Given the description of an element on the screen output the (x, y) to click on. 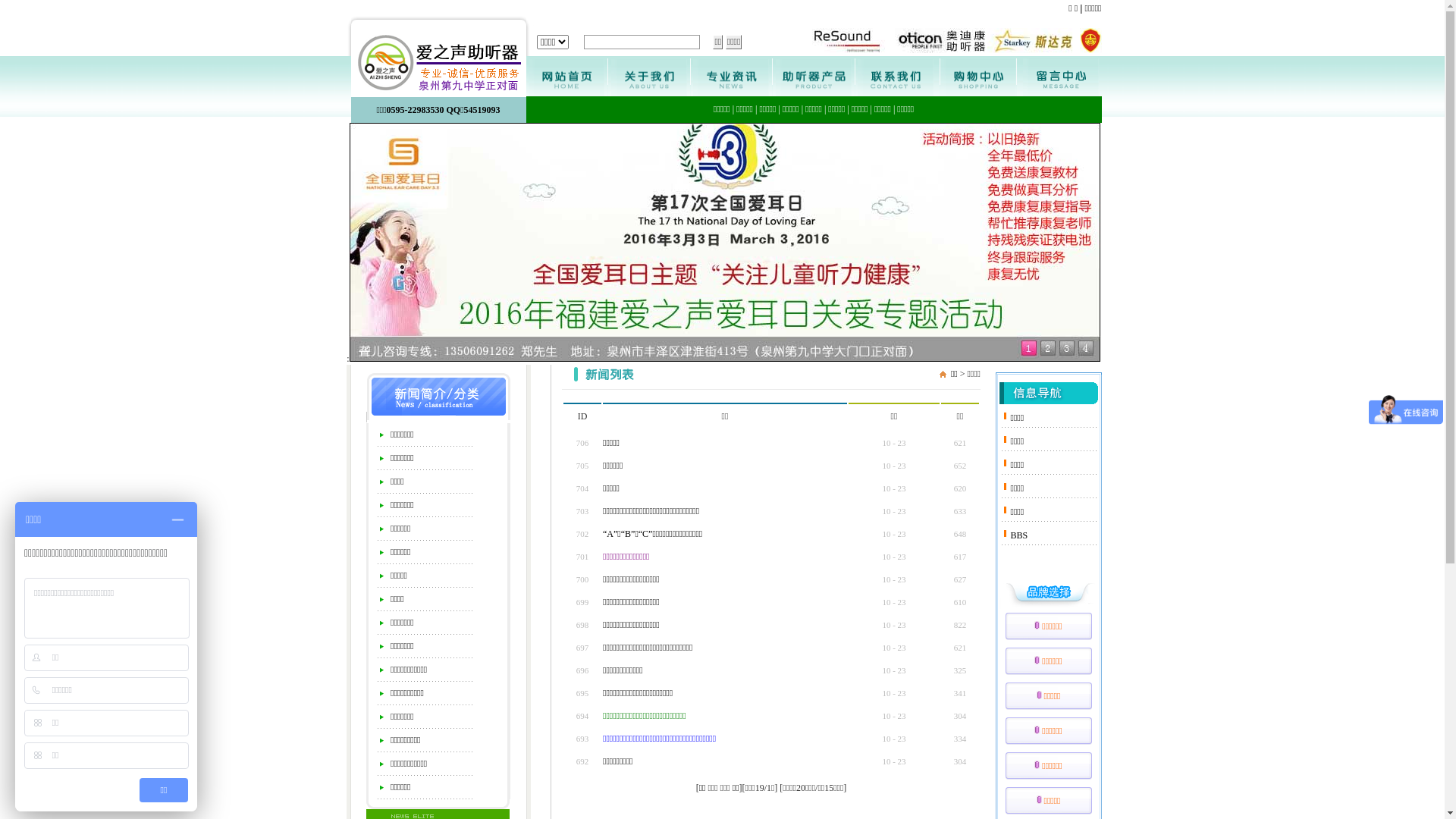
BBS Element type: text (1018, 534)
